Given the description of an element on the screen output the (x, y) to click on. 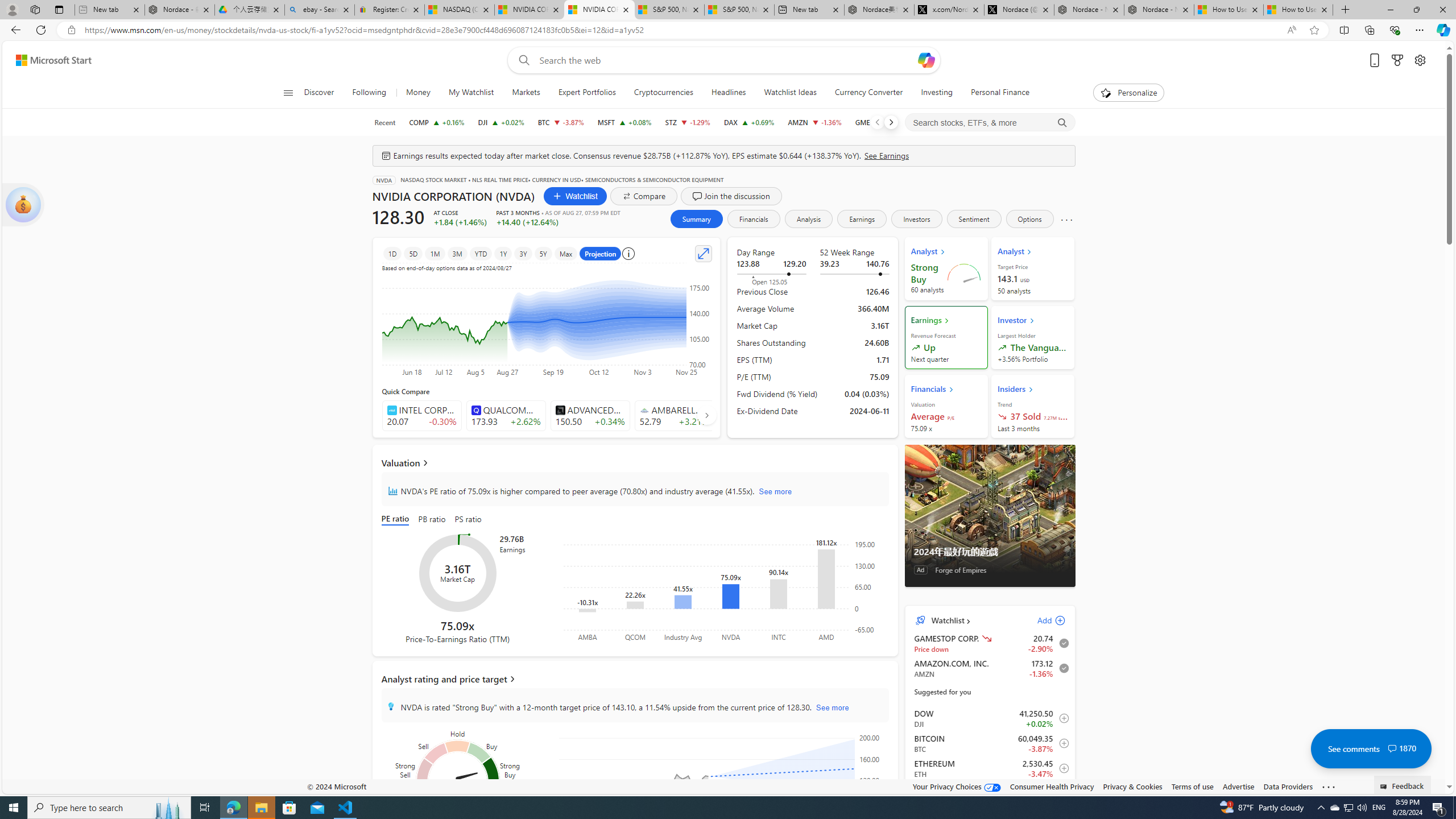
Compare (644, 195)
My Watchlist (471, 92)
Recent (385, 121)
Investors (916, 218)
Earnings (861, 218)
1M (435, 253)
DAX DAX increase 18,810.79 +128.98 +0.69% (748, 122)
Analyst rating and price target (635, 678)
See comments 1870 (1370, 748)
AutomationID: finance_carousel_navi_arrow (706, 414)
